Given the description of an element on the screen output the (x, y) to click on. 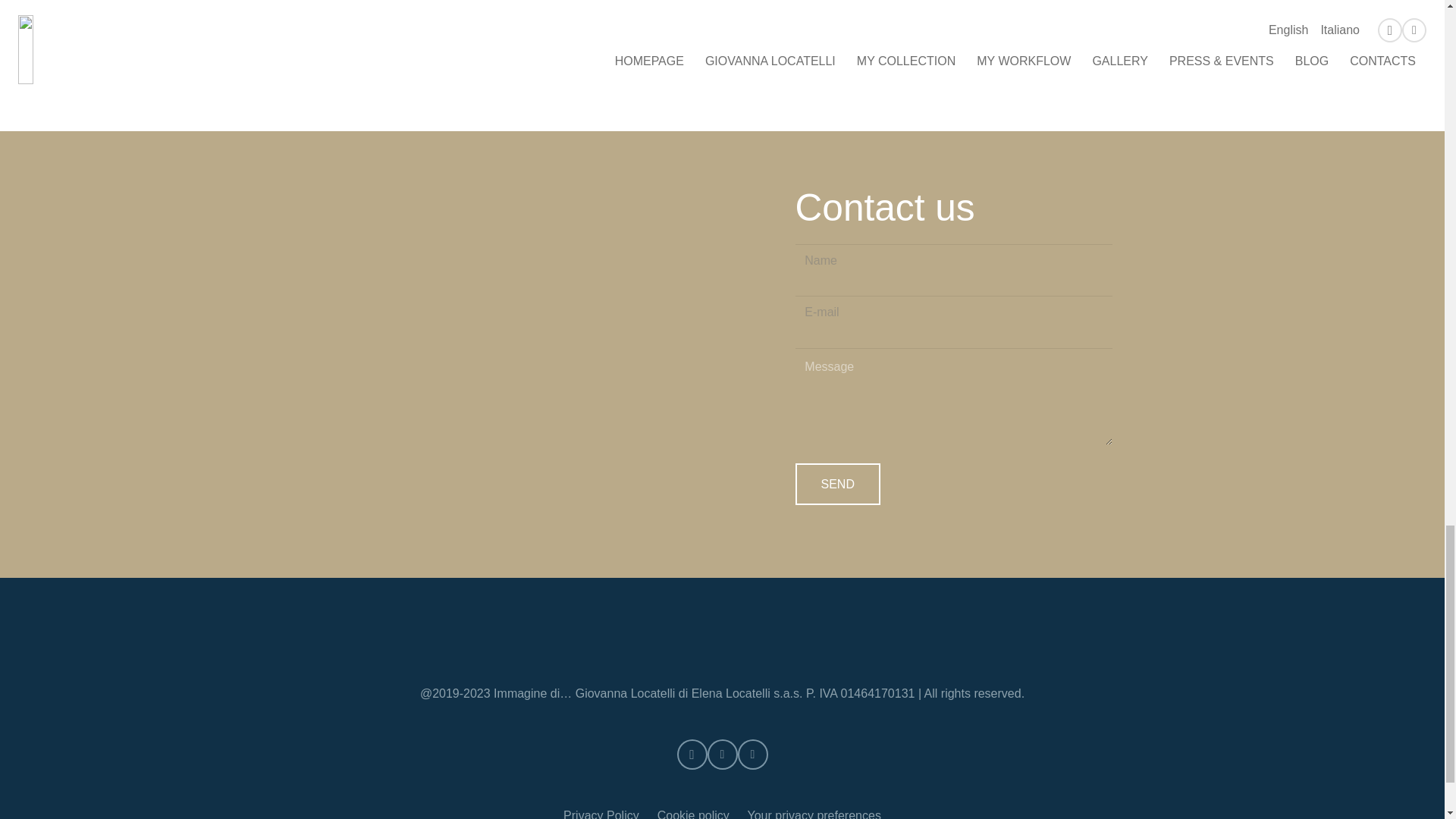
Privacy Policy (601, 814)
Share this (757, 68)
Send (836, 484)
Share this (684, 68)
Email this (648, 68)
Send (836, 484)
Your privacy preferences (813, 814)
Share this (794, 68)
Tweet this (721, 68)
Cookie policy (693, 814)
